Given the description of an element on the screen output the (x, y) to click on. 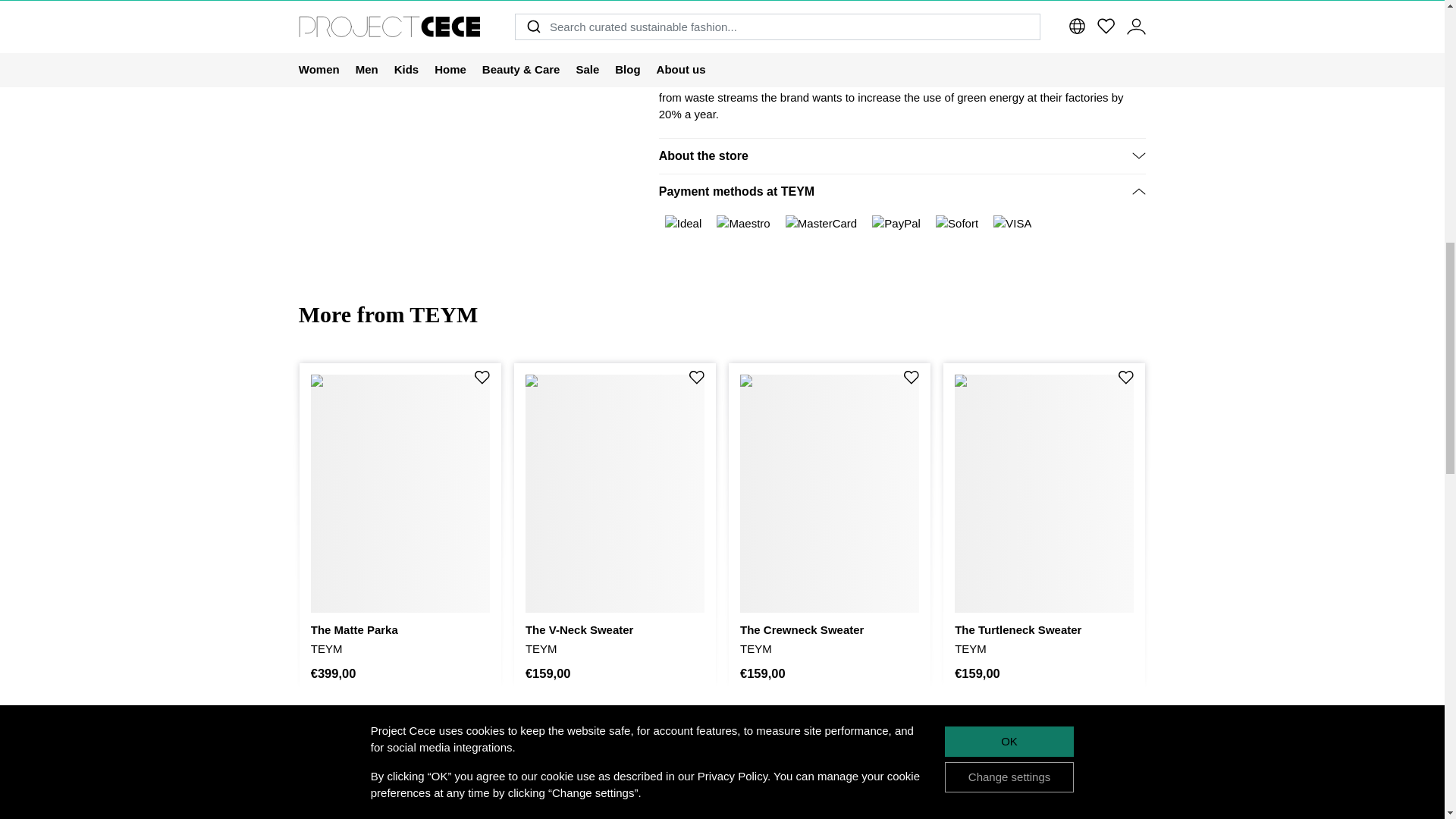
The Shirt from TEYM (347, 4)
Ideal (683, 223)
The Shirt from TEYM (469, 4)
